Given the description of an element on the screen output the (x, y) to click on. 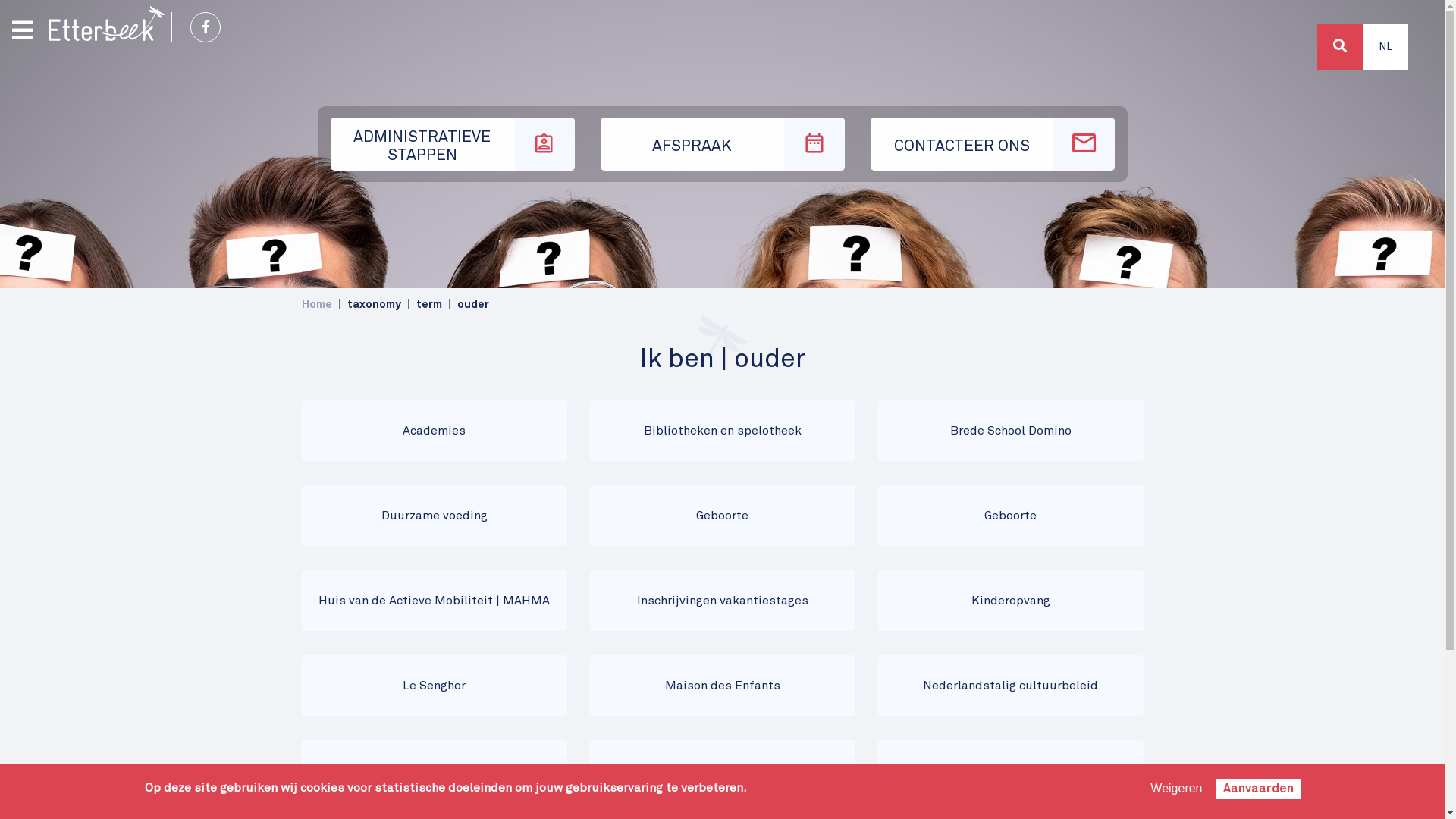
Aanvaarden Element type: text (1258, 788)
Weigeren Element type: text (1175, 788)
Premie voor herbruikbare luiers Element type: text (434, 770)
Academies Element type: text (434, 430)
Inschrijvingen vakantiestages Element type: text (722, 600)
Overslaan en naar de inhoud gaan Element type: text (721, 1)
Home Element type: hover (106, 23)
NL Element type: text (1385, 47)
Kinderopvang Element type: text (1010, 600)
Geboorte Element type: text (1010, 515)
Home Element type: text (316, 304)
ADMINISTRATIEVE STAPPEN Element type: text (452, 143)
Scholen in Etterbeek Element type: text (722, 770)
CONTACTEER ONS Element type: text (992, 143)
Le Senghor Element type: text (434, 685)
Duurzame voeding Element type: text (434, 515)
Nederlandstalig cultuurbeleid Element type: text (1010, 685)
Geboorte Element type: text (722, 515)
Huis van de Actieve Mobiliteit | MAHMA Element type: text (434, 600)
AFSPRAAK Element type: text (722, 143)
Brede School Domino Element type: text (1010, 430)
Maison des Enfants Element type: text (722, 685)
Bibliotheken en spelotheek Element type: text (722, 430)
Zero afval Element type: text (1010, 770)
